Given the description of an element on the screen output the (x, y) to click on. 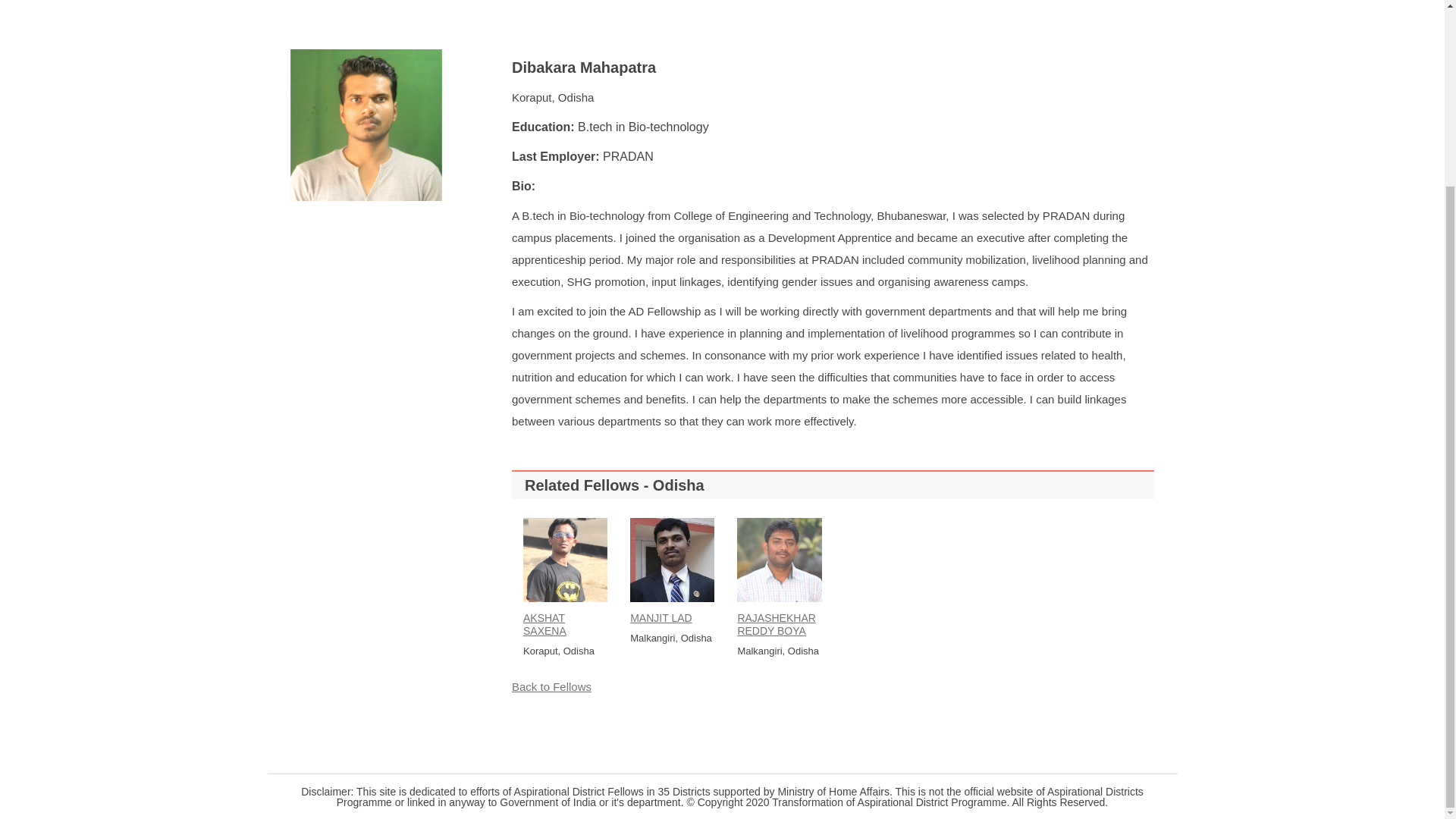
Back to Fellows (551, 686)
